Given the description of an element on the screen output the (x, y) to click on. 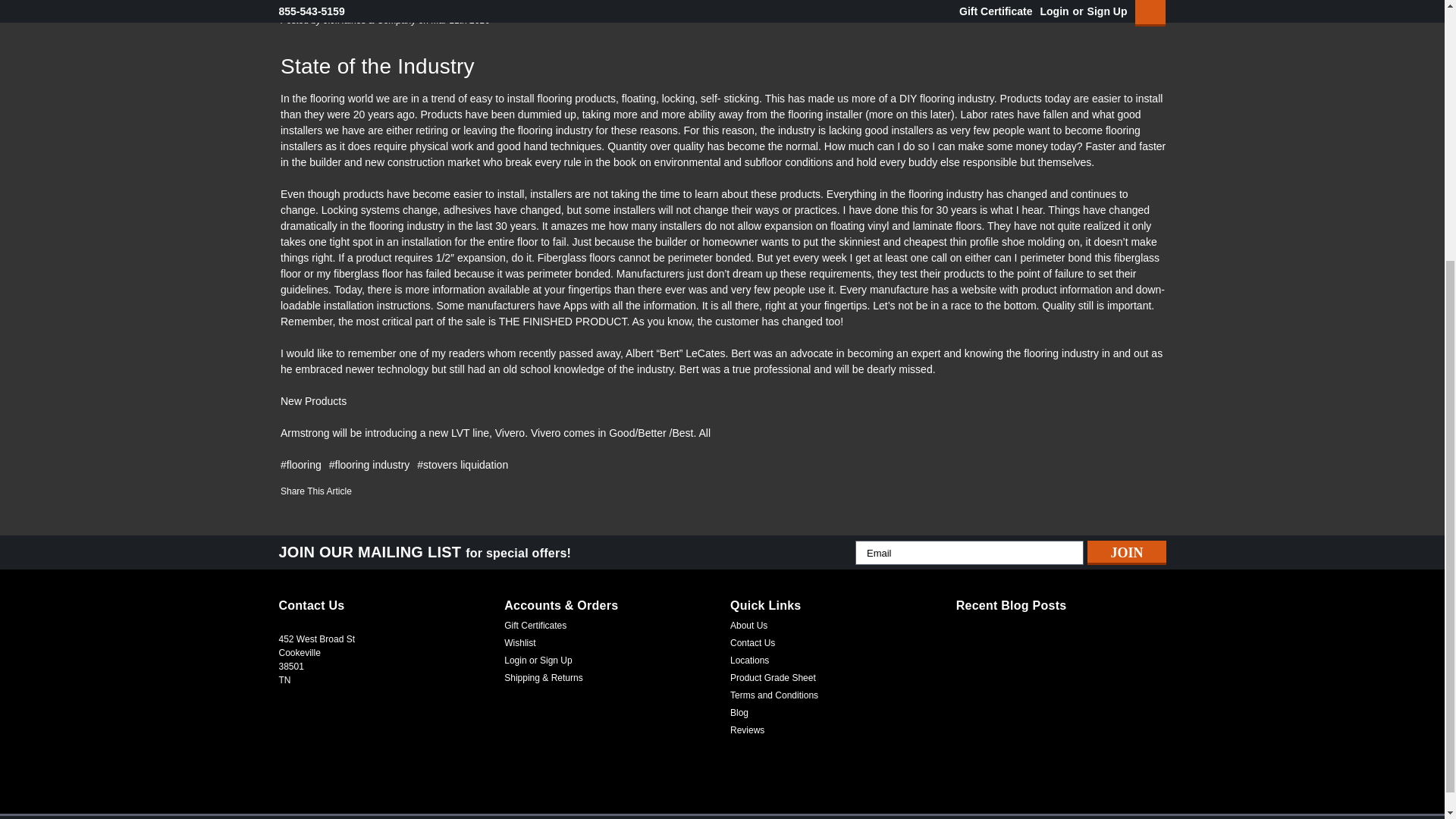
Join (1126, 552)
